Given the description of an element on the screen output the (x, y) to click on. 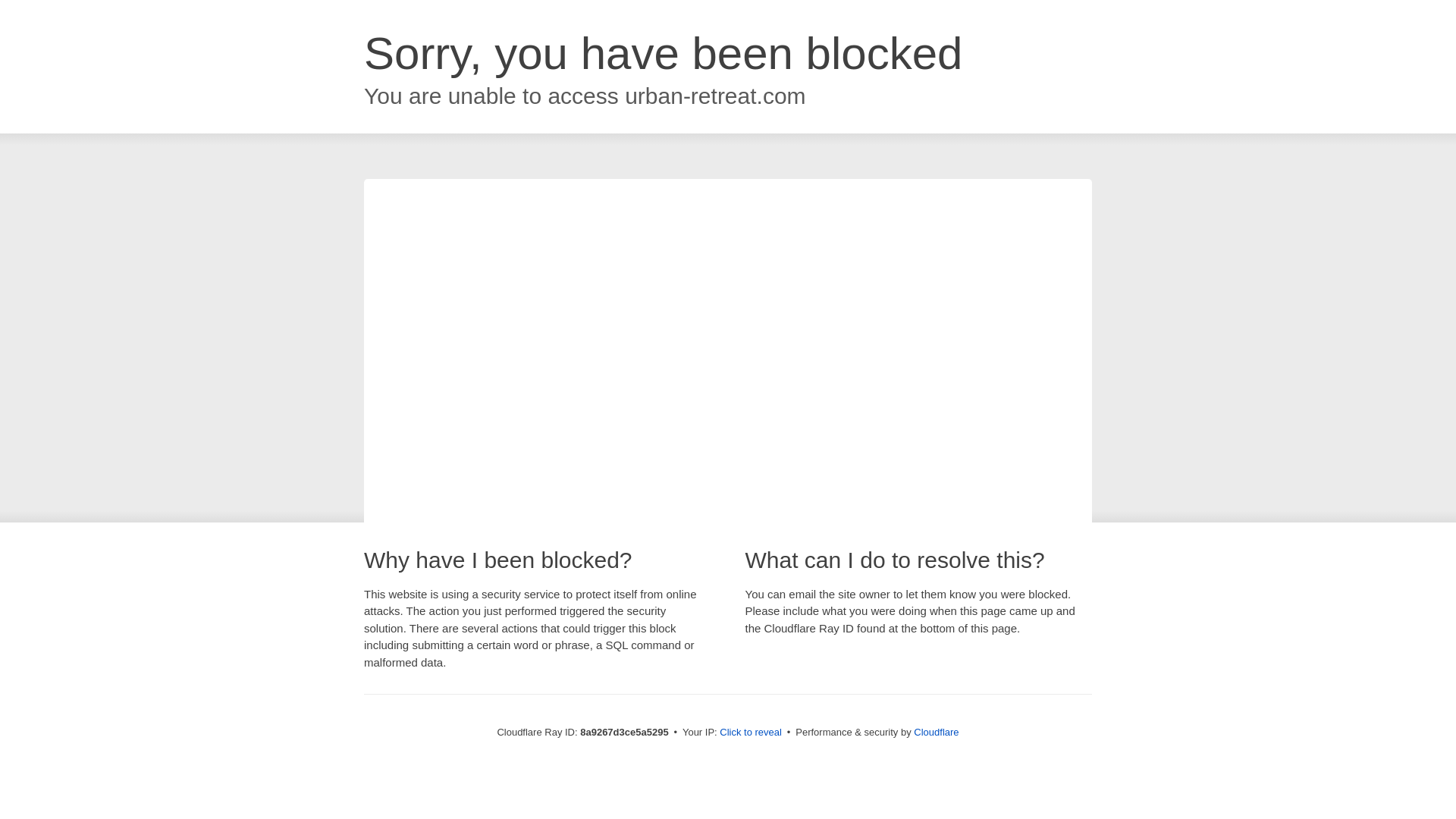
Click to reveal (750, 732)
Cloudflare (936, 731)
